Given the description of an element on the screen output the (x, y) to click on. 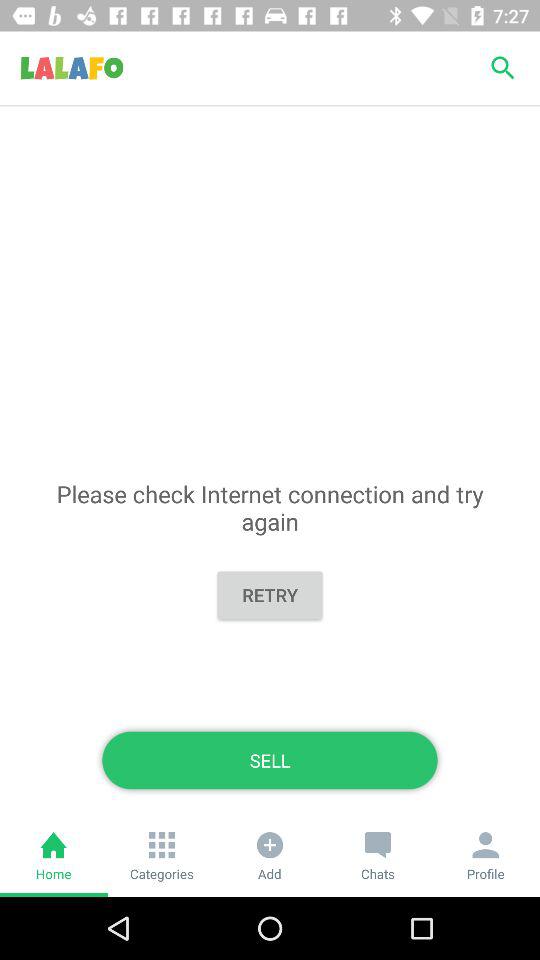
open the icon below please check internet (269, 594)
